Given the description of an element on the screen output the (x, y) to click on. 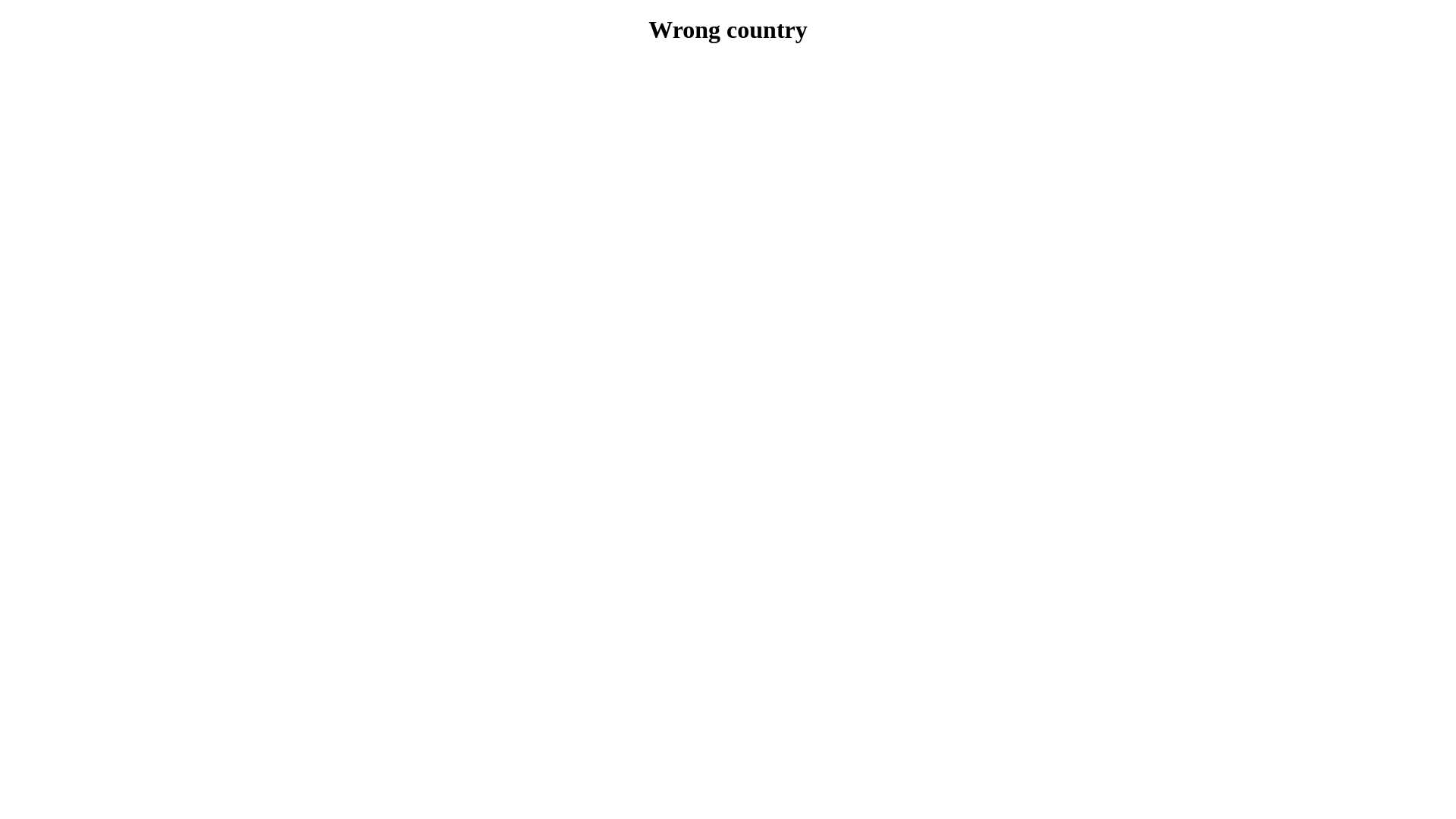
? Element type: text (727, 71)
